Given the description of an element on the screen output the (x, y) to click on. 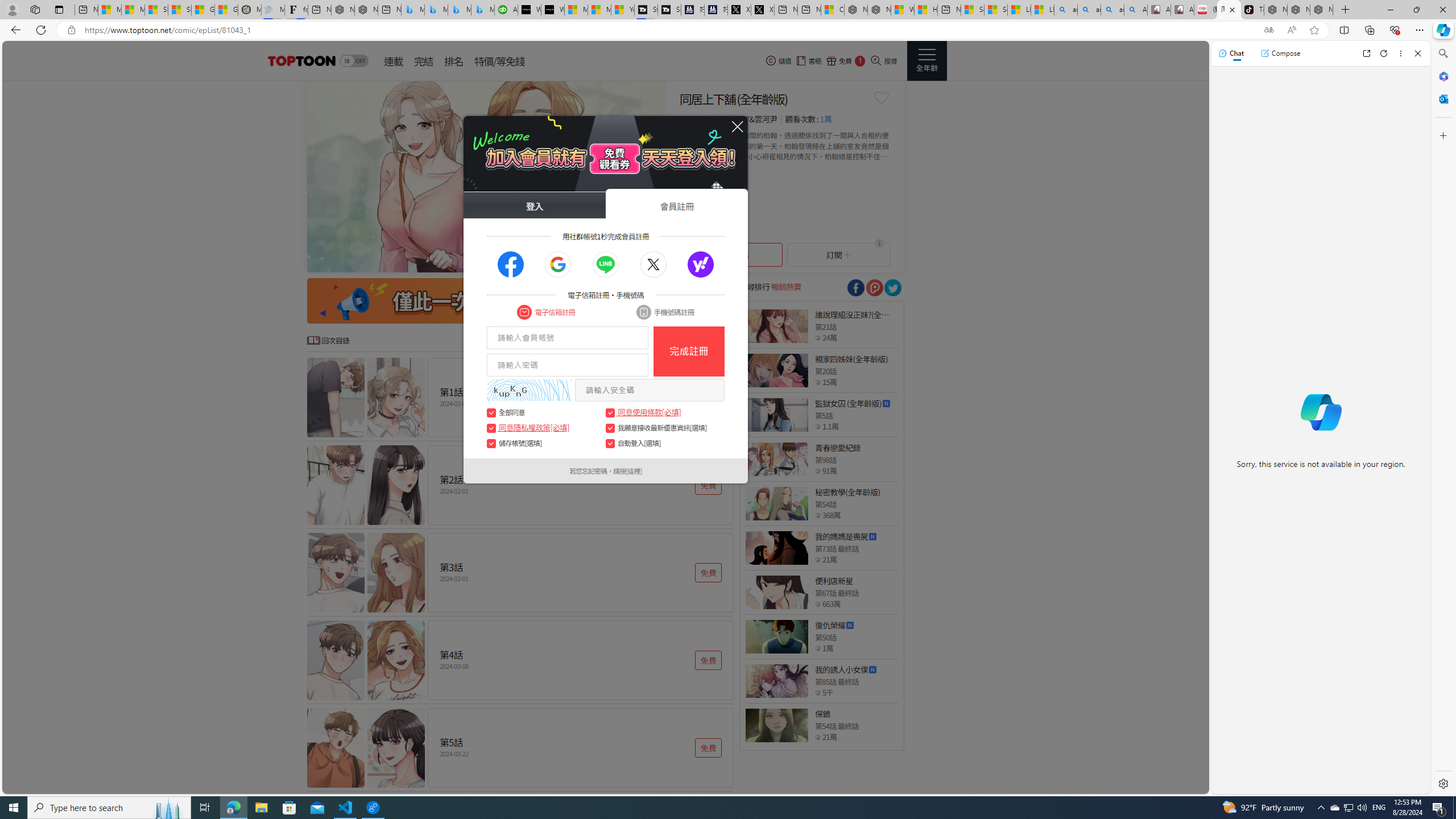
Collections (1369, 29)
Minimize (1390, 9)
amazon - Search (1089, 9)
Nordace - #1 Japanese Best-Seller - Siena Smart Backpack (365, 9)
Copilot (Ctrl+Shift+.) (1442, 29)
Nordace - Summer Adventures 2024 (879, 9)
